Given the description of an element on the screen output the (x, y) to click on. 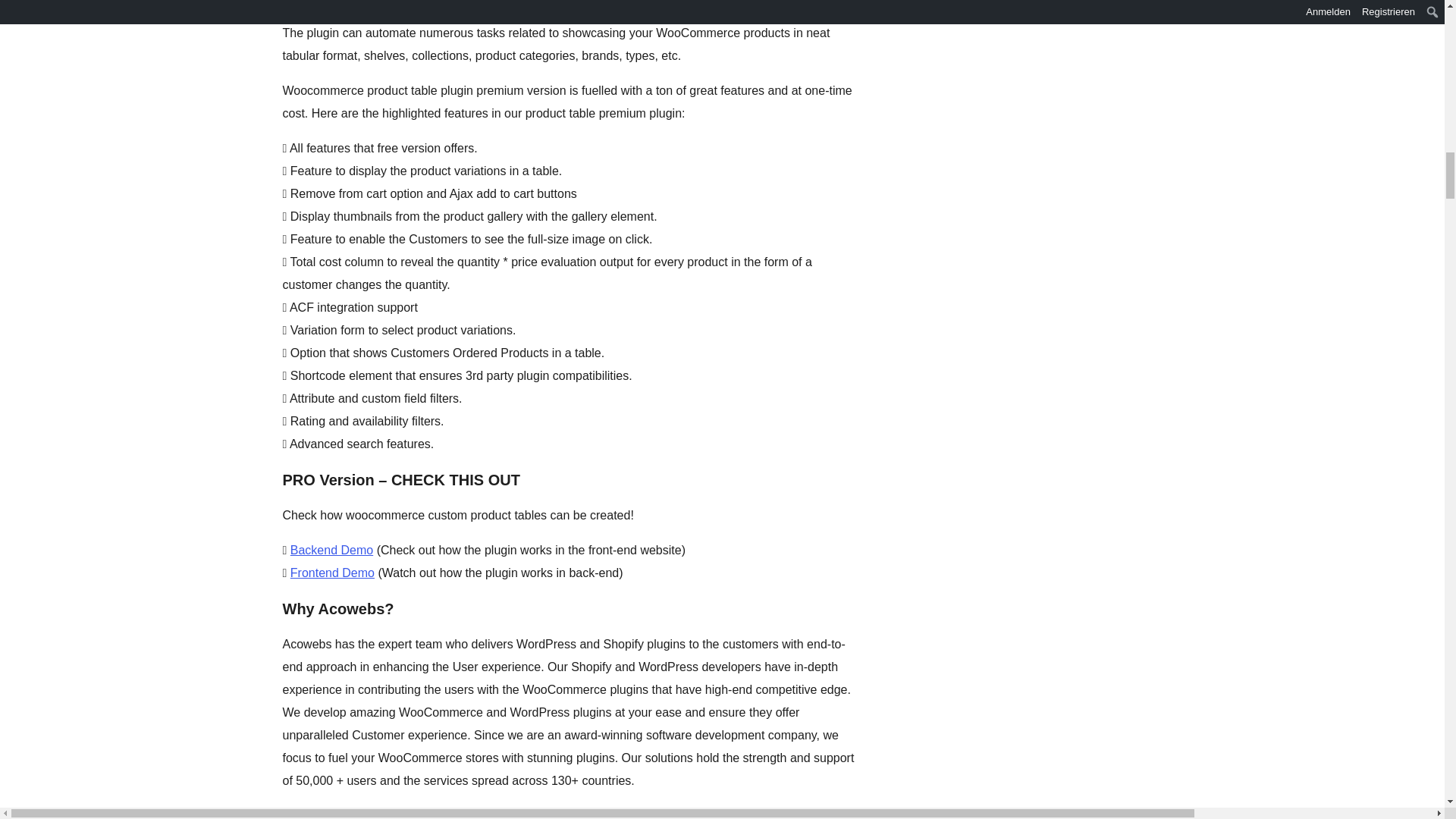
here (509, 814)
Frontend Demo (331, 572)
Backend Demo (330, 549)
